Given the description of an element on the screen output the (x, y) to click on. 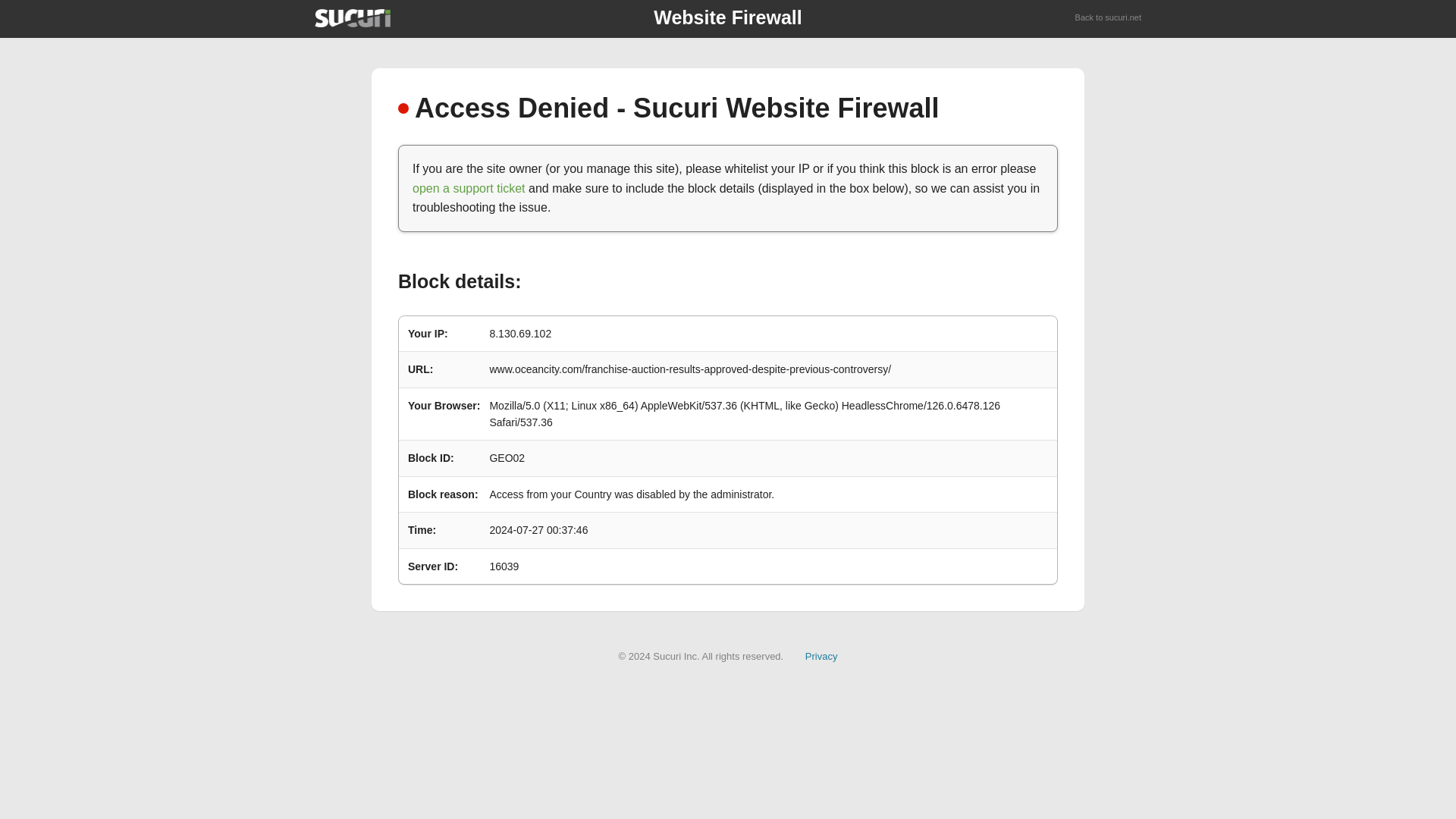
Back to sucuri.net (1108, 18)
Privacy (821, 655)
open a support ticket (468, 187)
